Given the description of an element on the screen output the (x, y) to click on. 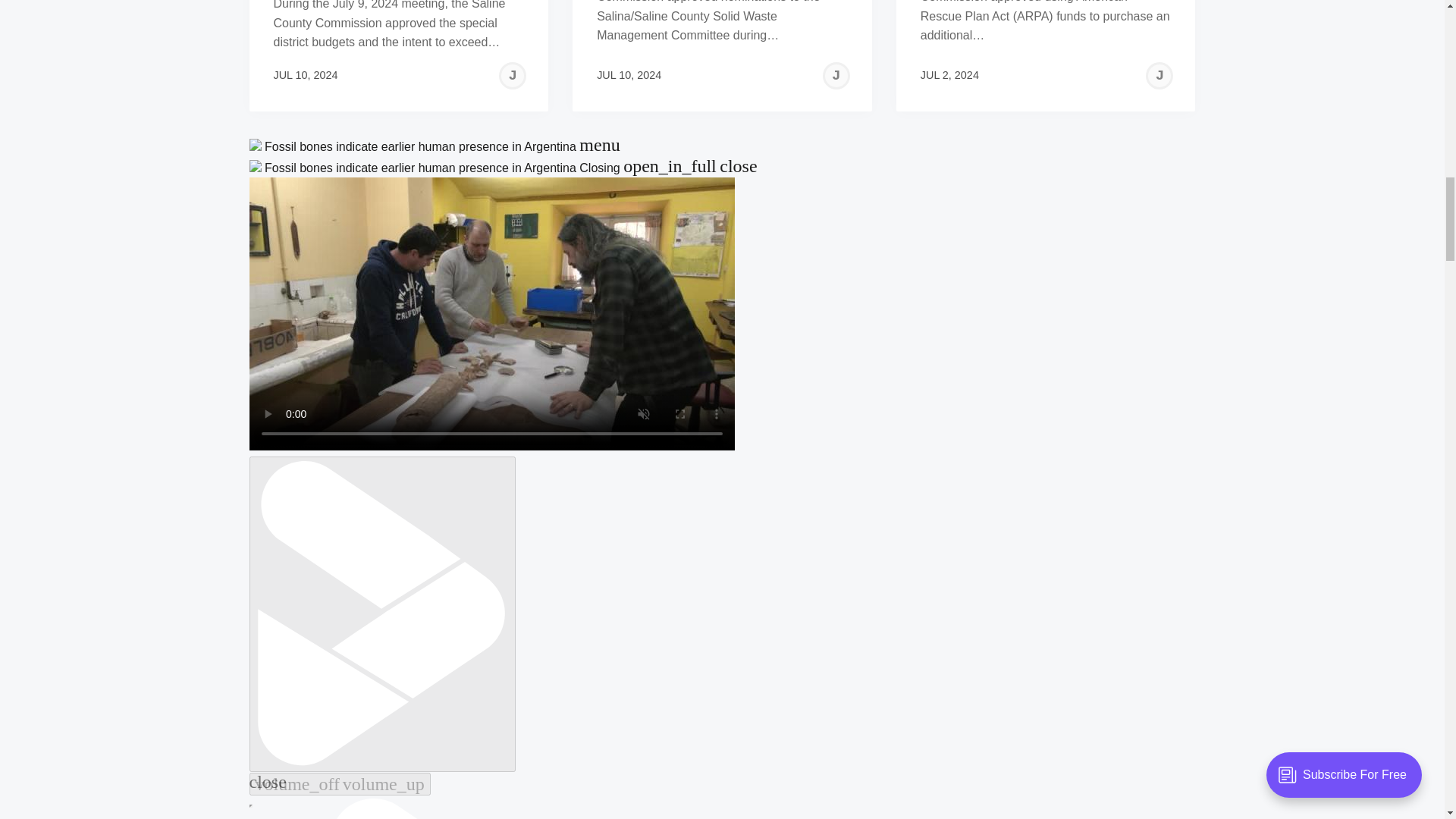
Jarah Cooper (512, 75)
Jarah Cooper (836, 75)
